Given the description of an element on the screen output the (x, y) to click on. 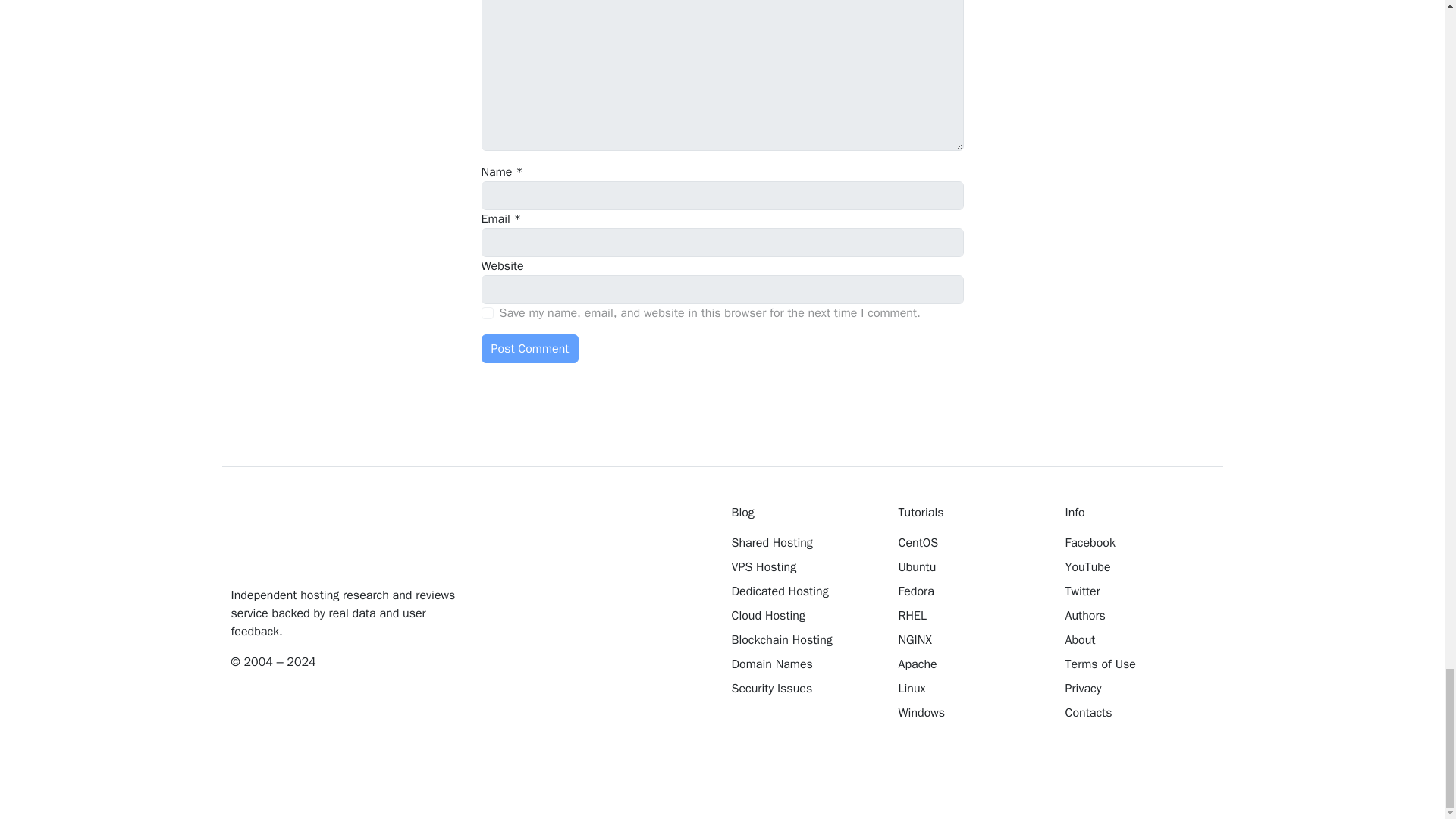
yes (486, 313)
Post Comment (529, 348)
Shared Hosting (803, 542)
Post Comment (529, 348)
